Given the description of an element on the screen output the (x, y) to click on. 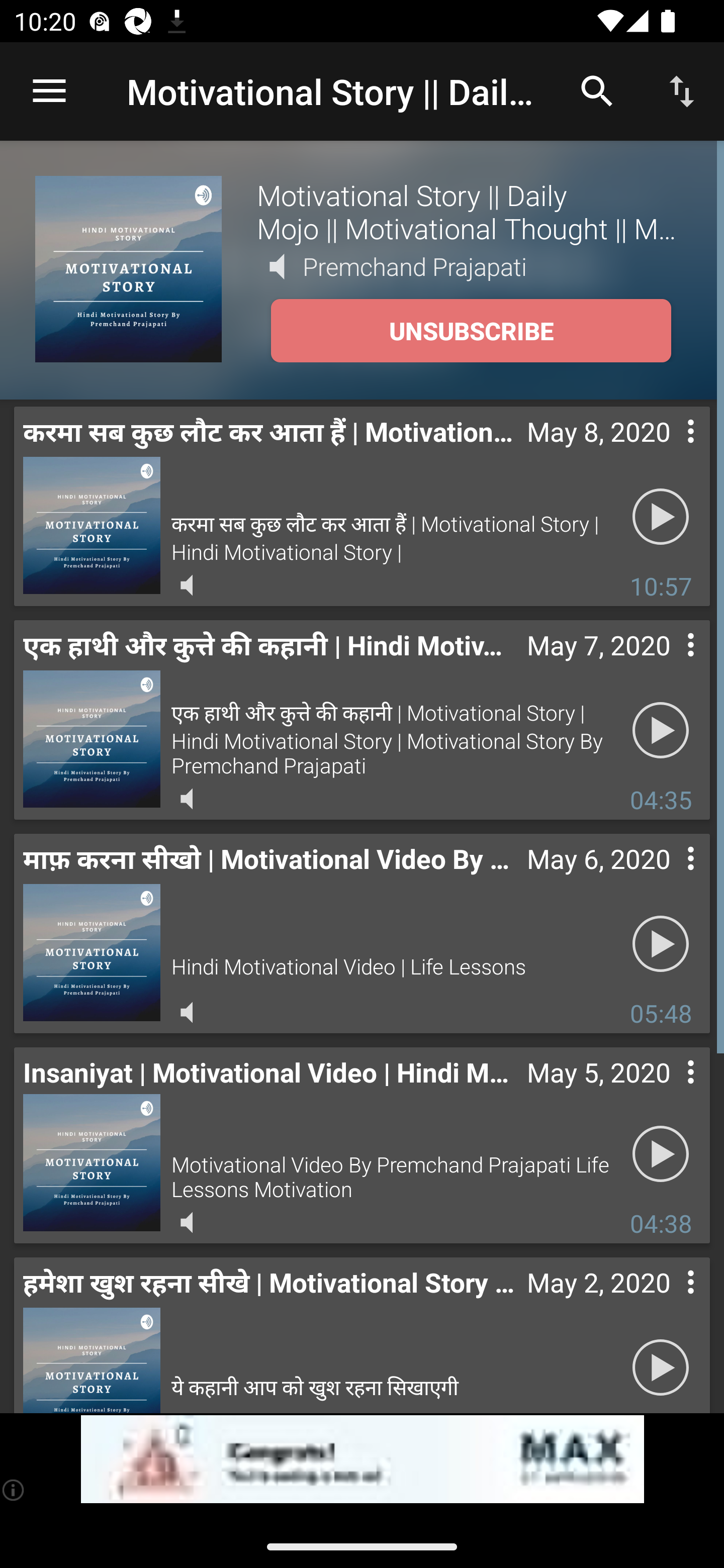
Open navigation sidebar (49, 91)
Search (597, 90)
Sort (681, 90)
UNSUBSCRIBE (470, 330)
Contextual menu (668, 451)
Play (660, 516)
Contextual menu (668, 665)
Play (660, 729)
Contextual menu (668, 878)
Play (660, 943)
Contextual menu (668, 1091)
Play (660, 1152)
Contextual menu (668, 1301)
Play (660, 1365)
app-monetization (362, 1459)
(i) (14, 1489)
